Given the description of an element on the screen output the (x, y) to click on. 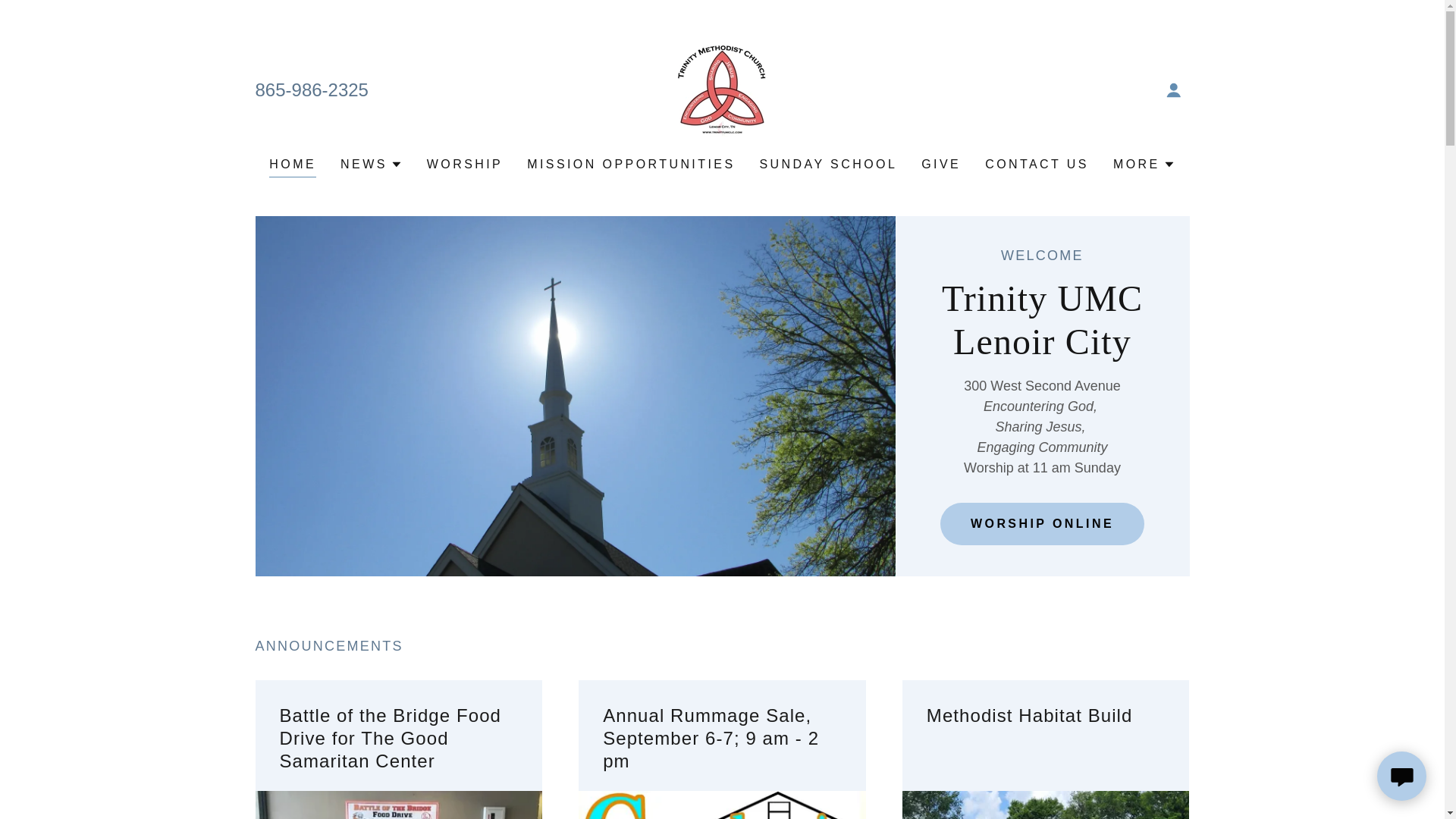
SUNDAY SCHOOL (828, 164)
NEWS (371, 164)
CONTACT US (1036, 164)
HOME (292, 166)
WORSHIP (464, 164)
GIVE (941, 164)
MISSION OPPORTUNITIES (630, 164)
MORE (1143, 164)
Trinity UMC Lenoir City (721, 88)
865-986-2325 (311, 88)
